Given the description of an element on the screen output the (x, y) to click on. 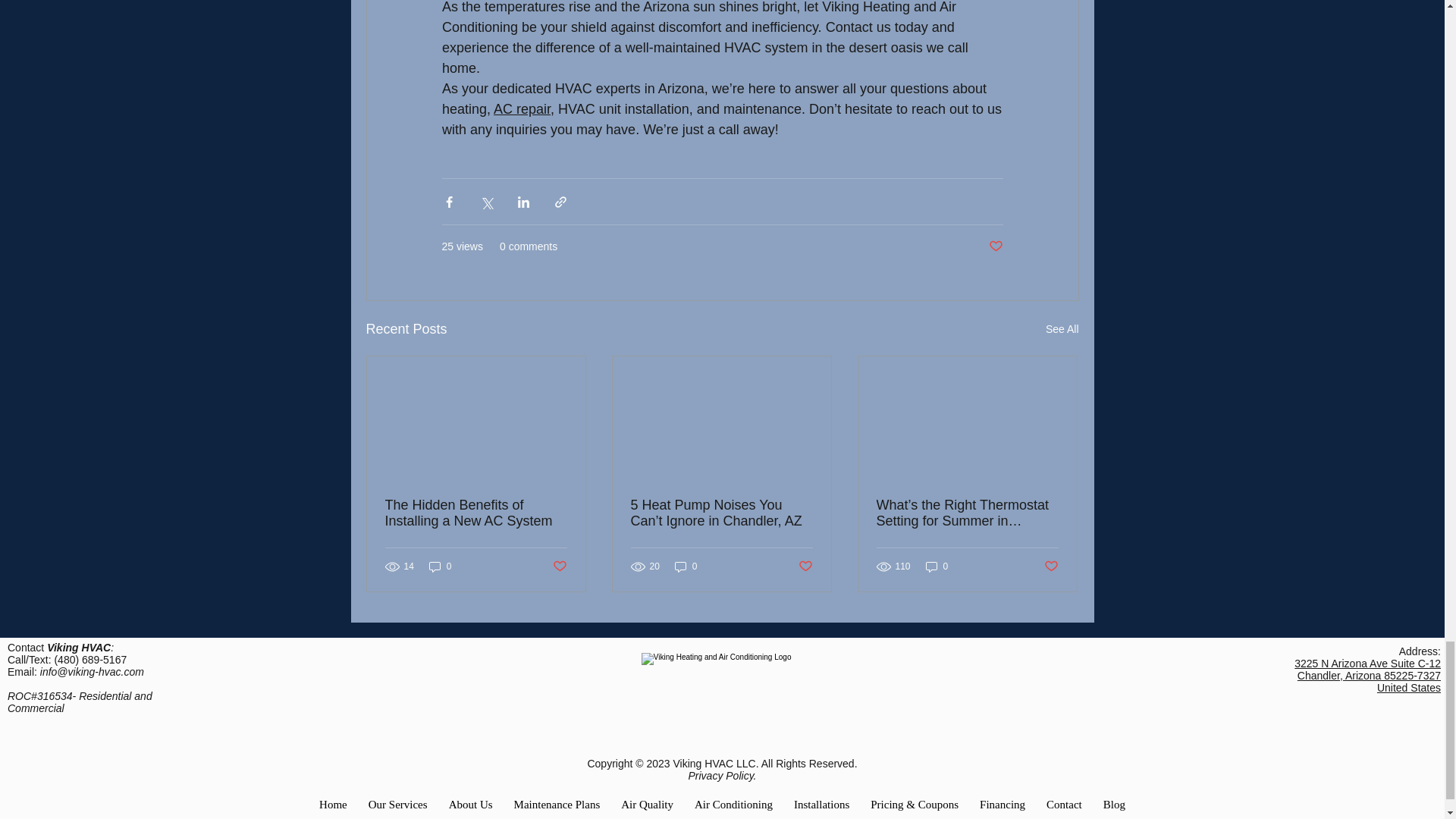
Post not marked as liked (804, 565)
Post not marked as liked (558, 565)
0 (440, 566)
Privacy Policy. (722, 775)
Post not marked as liked (1050, 565)
0 (685, 566)
0 (937, 566)
See All (1061, 329)
AC repair (521, 109)
Post not marked as liked (995, 246)
The Hidden Benefits of Installing a New AC System (476, 513)
